Given the description of an element on the screen output the (x, y) to click on. 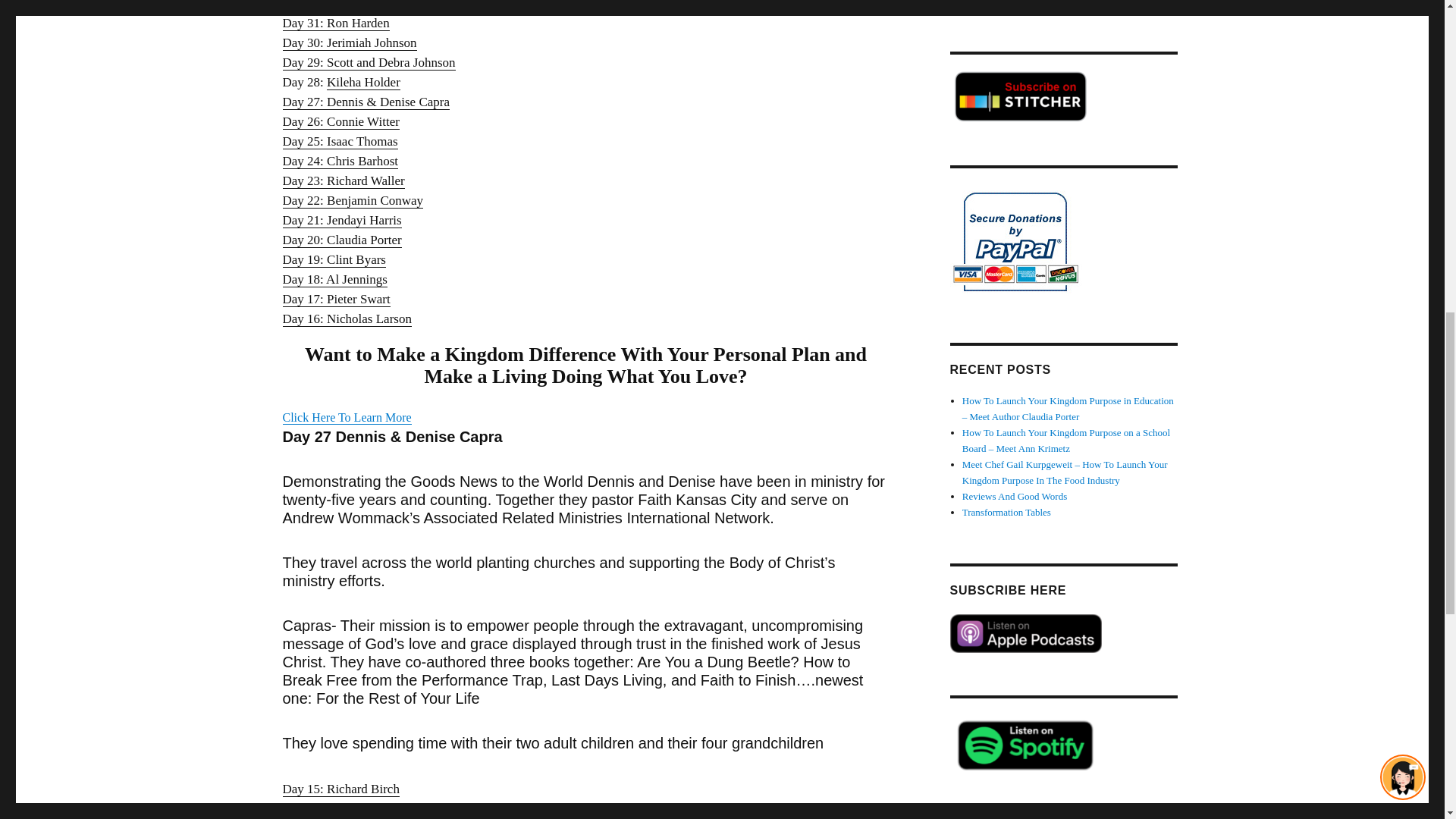
Click Here To Learn More (346, 417)
Day 14: Sherry Riether (341, 808)
Day 31: Ron Harden (335, 22)
Day 17: Pieter Swart (336, 298)
Day 30: Jerimiah Johnson (349, 42)
Kileha Holder (363, 82)
Day 29: Scott and Debra Johnson (368, 62)
Day 20: Claudia Porter (341, 239)
wa (408, 200)
Day 24: Chris Barhost (339, 160)
Day 19: Clint Byars (333, 259)
Day 15: Richard Birch (340, 789)
Day 21: Jendayi Harris (341, 219)
Day 25: Isaac Thomas (339, 141)
Day 23: Richard Waller (343, 180)
